Given the description of an element on the screen output the (x, y) to click on. 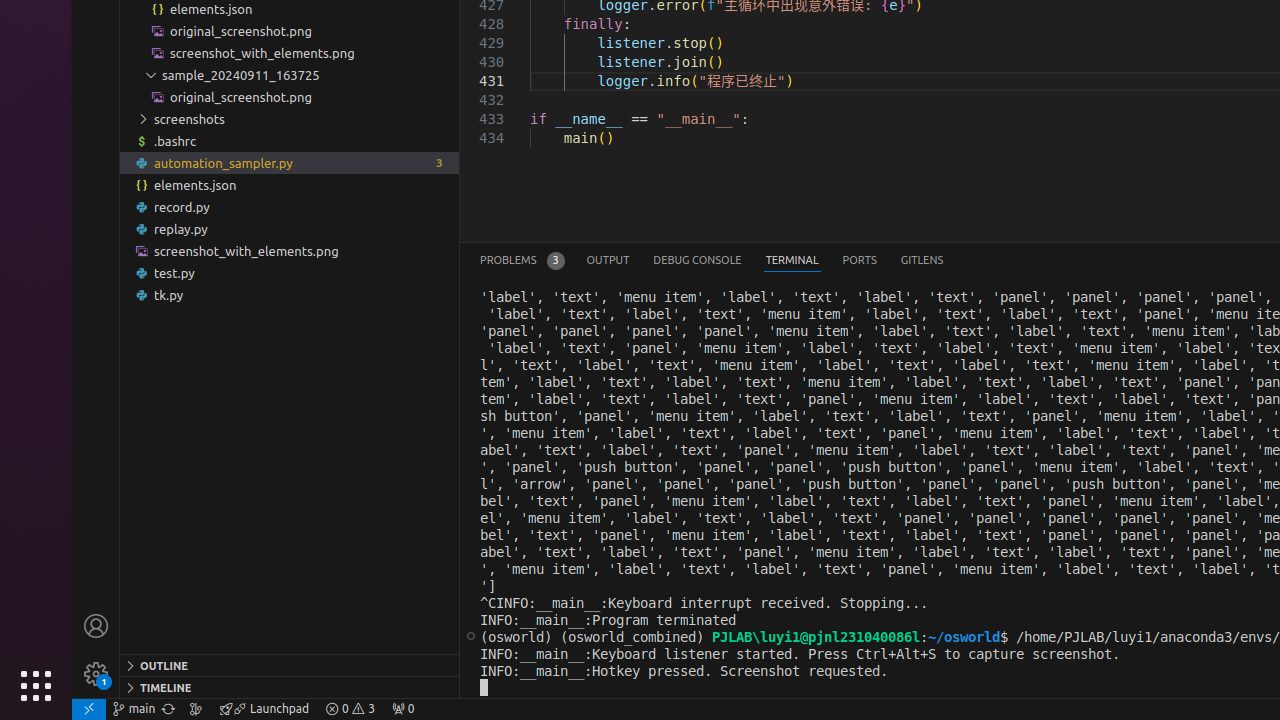
sample_20240911_163725 Element type: tree-item (289, 75)
OSWorld (Git) - Synchronize Changes Element type: push-button (168, 709)
.bashrc Element type: tree-item (289, 141)
No Ports Forwarded Element type: push-button (403, 709)
screenshot_with_elements.png Element type: tree-item (289, 251)
